Given the description of an element on the screen output the (x, y) to click on. 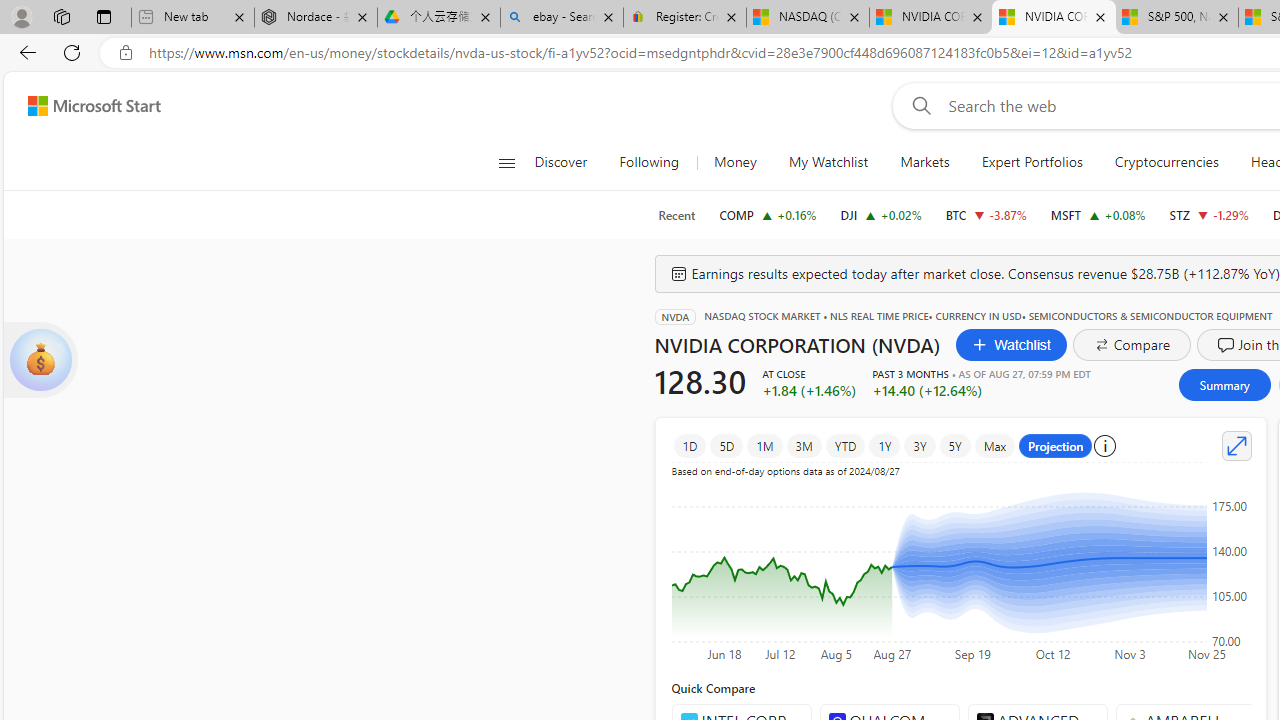
MSFT MICROSOFT CORPORATION increase 413.84 +0.35 +0.08% (1098, 214)
Money (735, 162)
Discover (560, 162)
Web search (917, 105)
COMP NASDAQ increase 17,754.82 +29.06 +0.16% (767, 214)
5D (726, 445)
Class: button-glyph (505, 162)
Projection (1055, 445)
Skip to footer (82, 105)
